Given the description of an element on the screen output the (x, y) to click on. 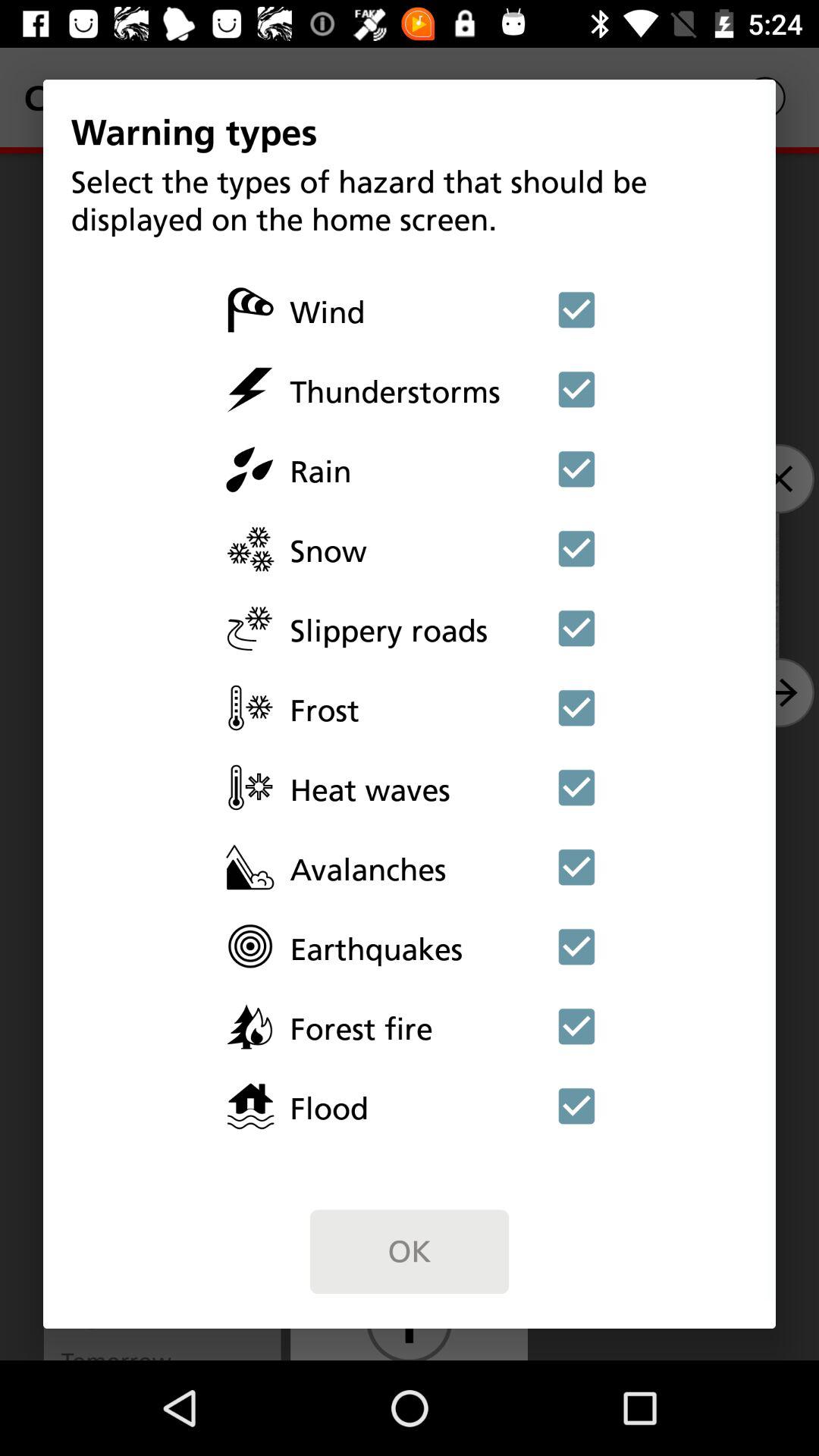
unselect slippery roads (576, 628)
